Given the description of an element on the screen output the (x, y) to click on. 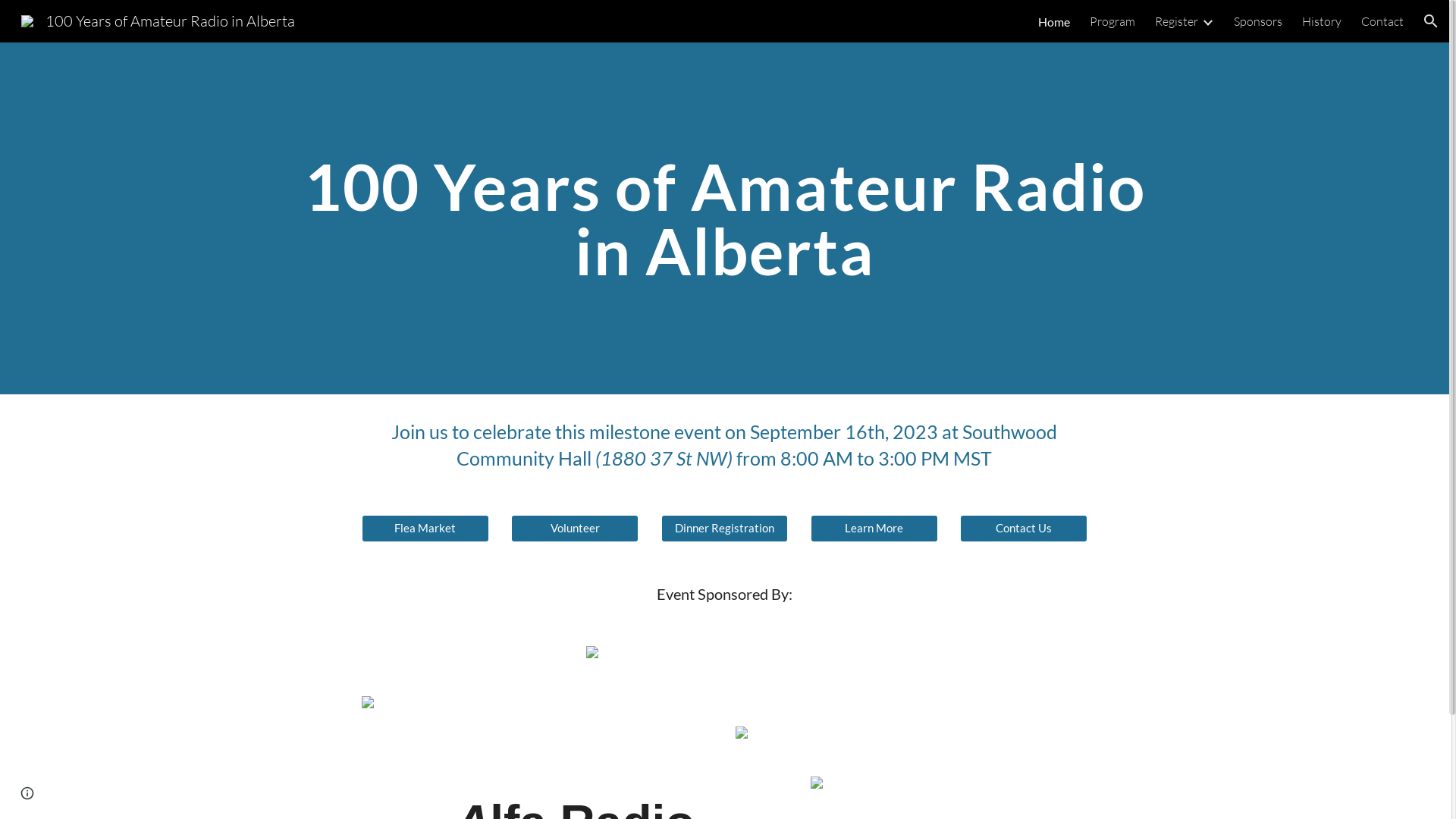
Program Element type: text (1112, 20)
History Element type: text (1321, 20)
Expand/Collapse Element type: hover (1207, 20)
Dinner Registration Element type: text (724, 528)
Sponsors Element type: text (1257, 20)
100 Years of Amateur Radio in Alberta Element type: text (158, 18)
Flea Market Element type: text (425, 528)
Contact Element type: text (1382, 20)
Contact Us Element type: text (1023, 528)
Learn More Element type: text (874, 528)
Register Element type: text (1176, 20)
Volunteer Element type: text (574, 528)
Home Element type: text (1054, 20)
